Given the description of an element on the screen output the (x, y) to click on. 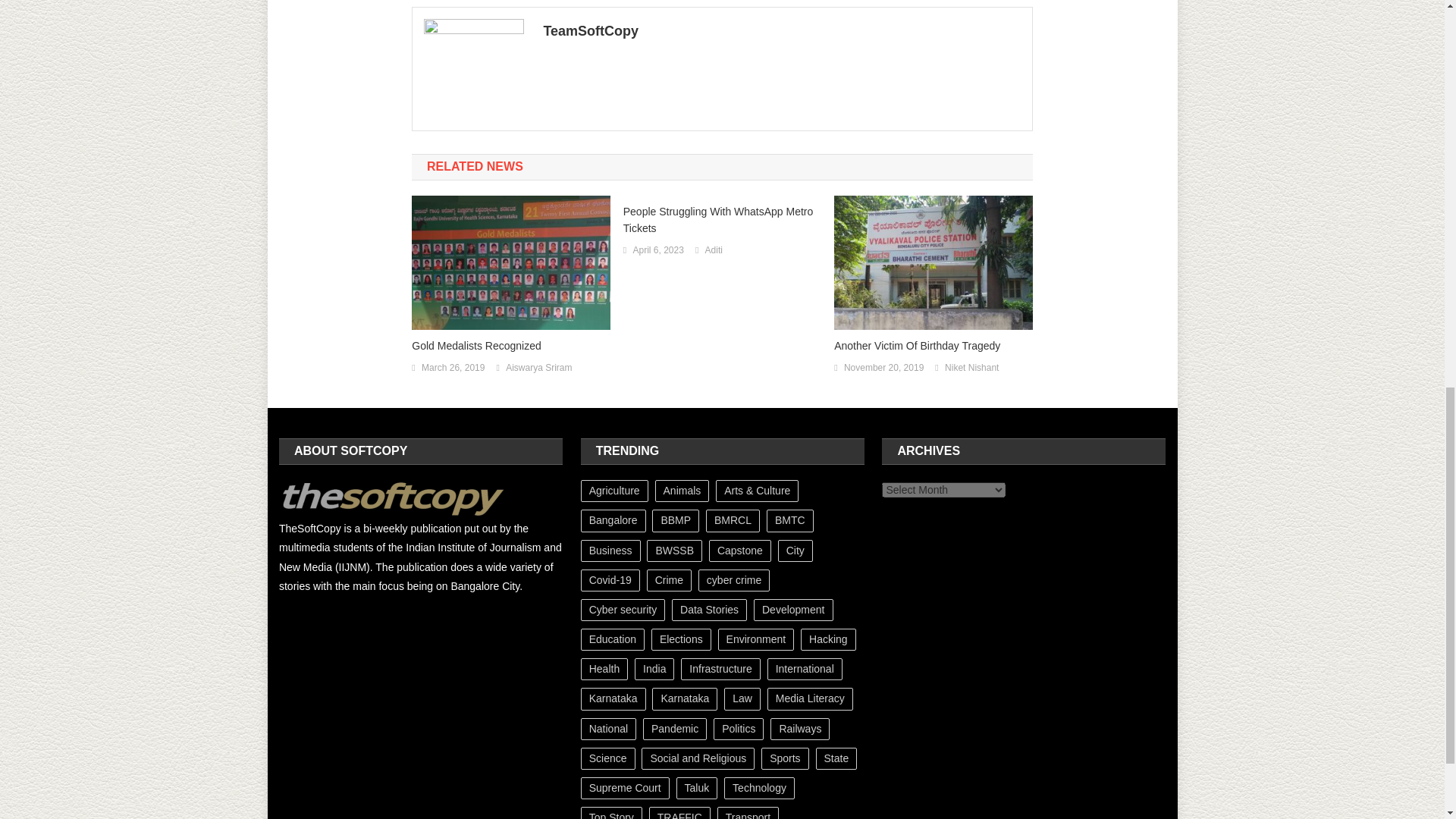
Gold Medalists Recognized (511, 345)
TeamSoftCopy (781, 30)
March 26, 2019 (453, 368)
Aiswarya Sriram (538, 368)
